Given the description of an element on the screen output the (x, y) to click on. 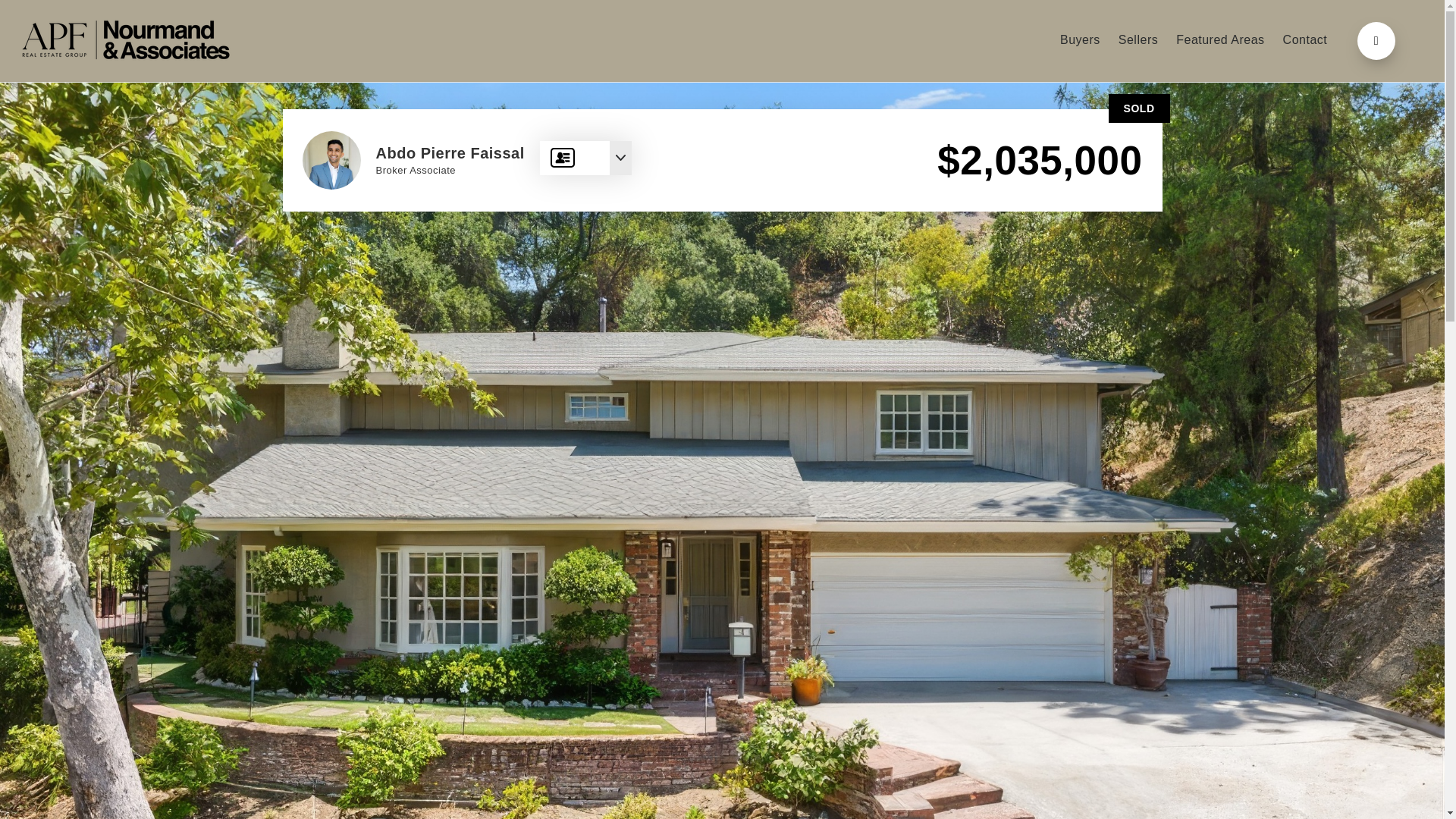
Contact (1305, 40)
Sellers (1138, 40)
Buyers (1080, 40)
Featured Areas (1219, 40)
